Given the description of an element on the screen output the (x, y) to click on. 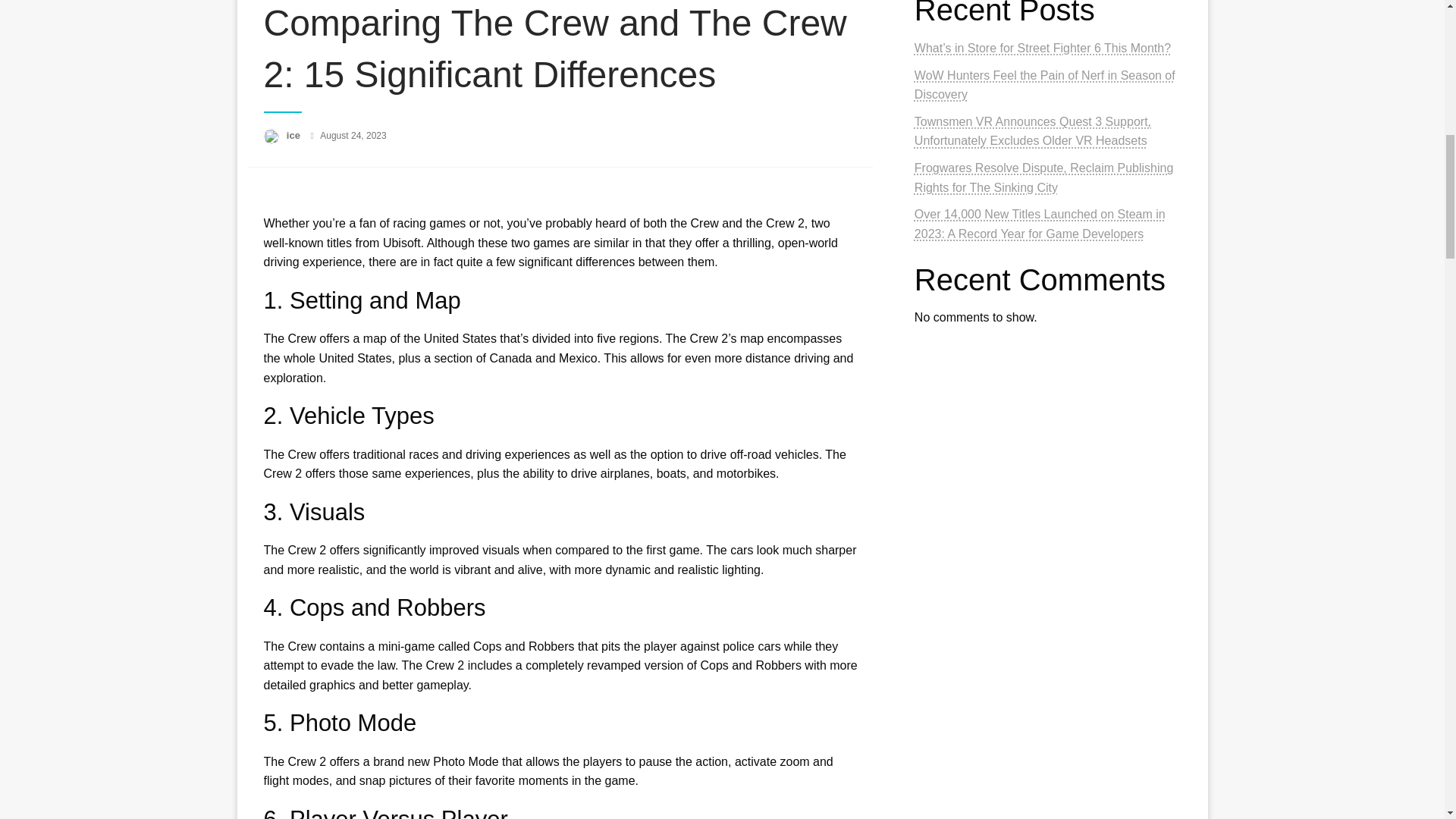
ice (294, 134)
WoW Hunters Feel the Pain of Nerf in Season of Discovery (1044, 84)
ice (294, 134)
August 24, 2023 (352, 135)
